Given the description of an element on the screen output the (x, y) to click on. 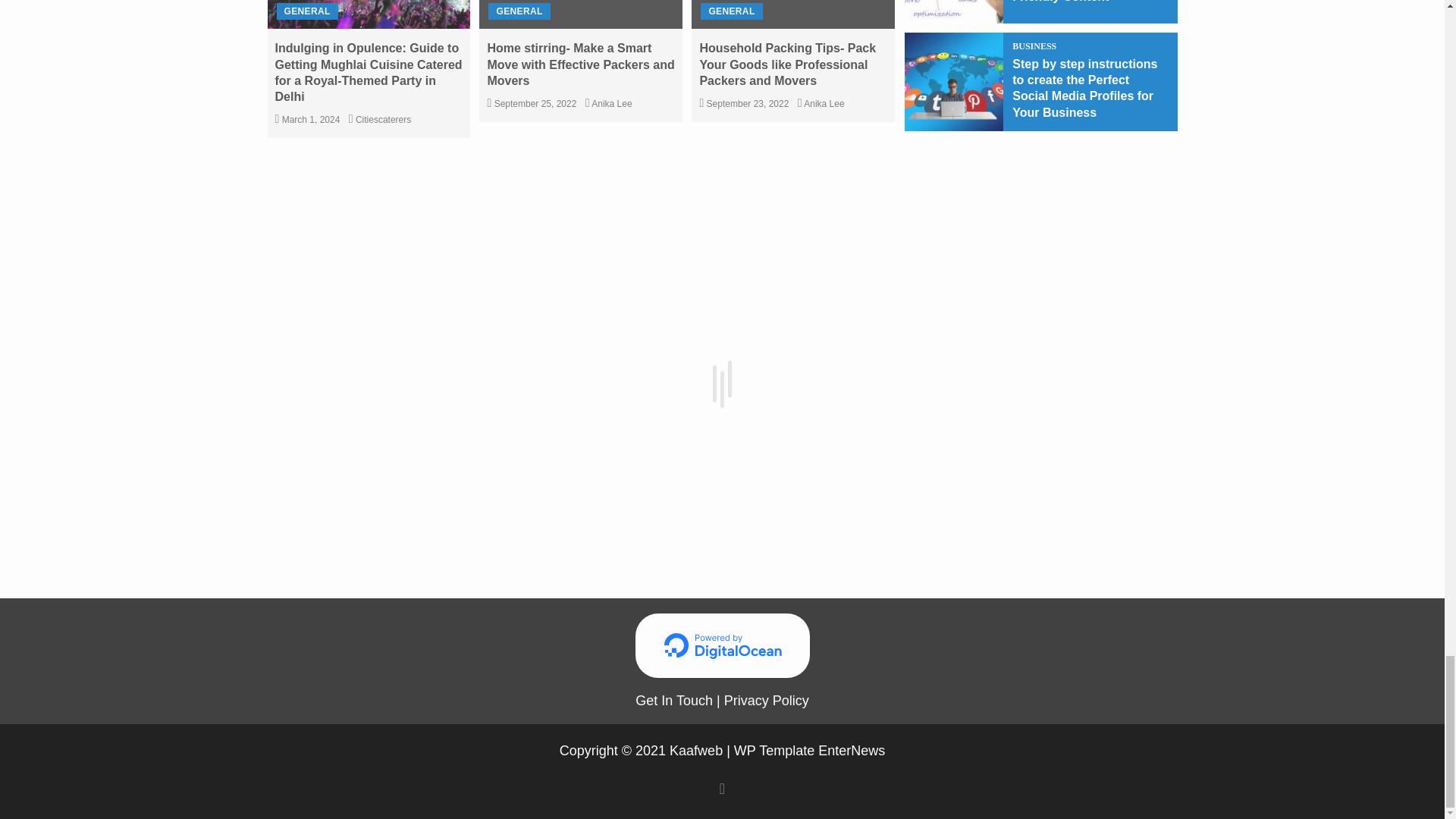
GENERAL (306, 11)
Anika Lee (611, 103)
GENERAL (730, 11)
Anika Lee (823, 103)
Citiescaterers (382, 119)
GENERAL (518, 11)
